Given the description of an element on the screen output the (x, y) to click on. 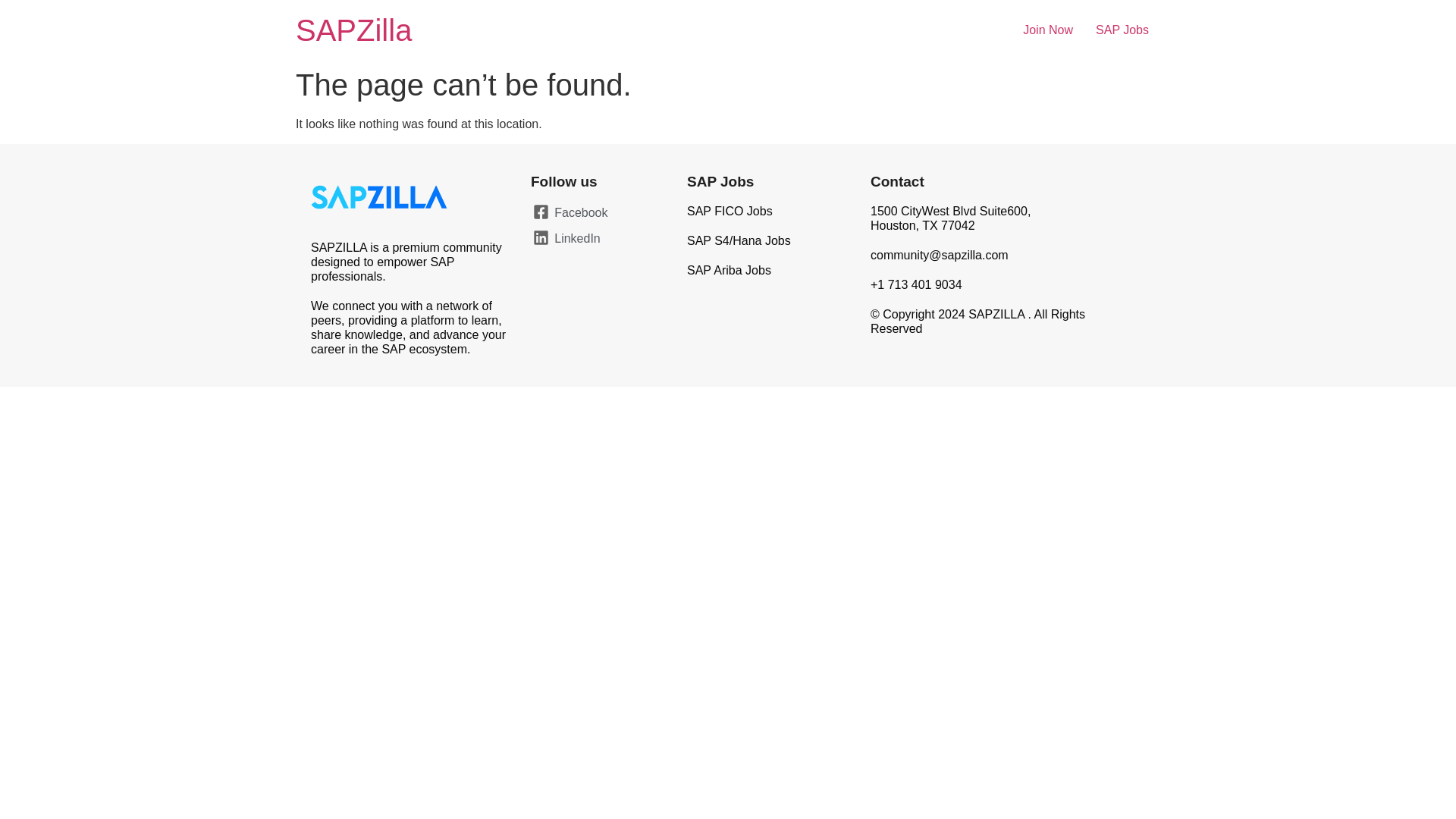
SAP Ariba Jobs (729, 269)
Home (353, 29)
SAP FICO Jobs (730, 210)
SAPZilla (353, 29)
Facebook (593, 212)
SAP Jobs (720, 181)
LinkedIn (593, 239)
Join Now (1047, 30)
SAP Jobs (1122, 30)
